Given the description of an element on the screen output the (x, y) to click on. 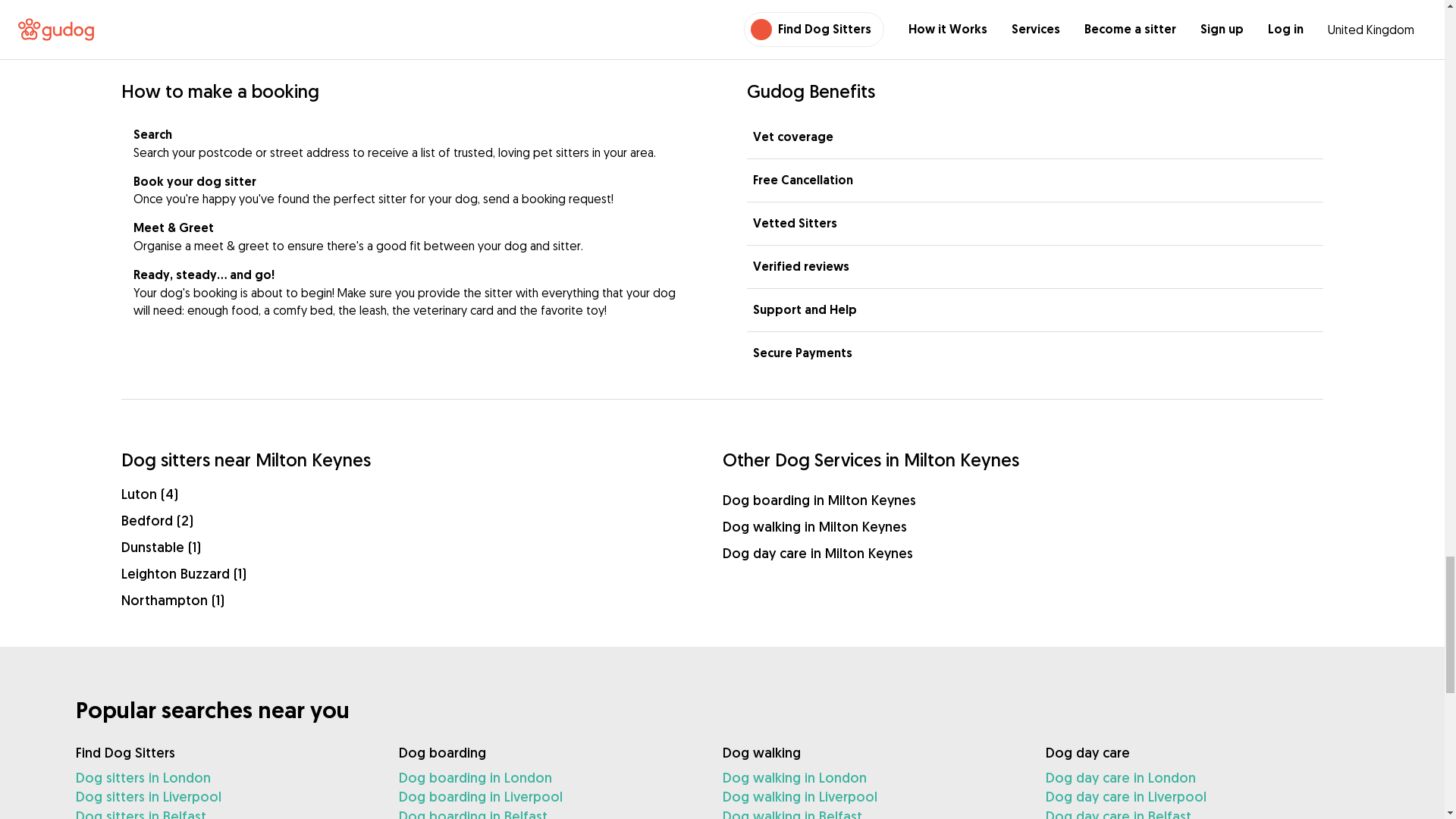
Dog sitters in Belfast (224, 812)
Dog boarding Northampton (421, 599)
Dog sitters in London (224, 777)
Dog boarding in Belfast (547, 812)
Dog walking in Milton Keynes (1022, 526)
Dog boarding in Liverpool (547, 796)
Dog boarding in Milton Keynes (1022, 499)
Dog boarding Luton (421, 494)
Dog sitters in London (224, 777)
Dog boarding Bedford (421, 520)
Dog boarding in Belfast (547, 812)
Dog day care in Milton Keynes (1022, 552)
Dog boarding in Liverpool (547, 796)
Dog sitters in Belfast (224, 812)
Dog boarding in London (547, 777)
